Given the description of an element on the screen output the (x, y) to click on. 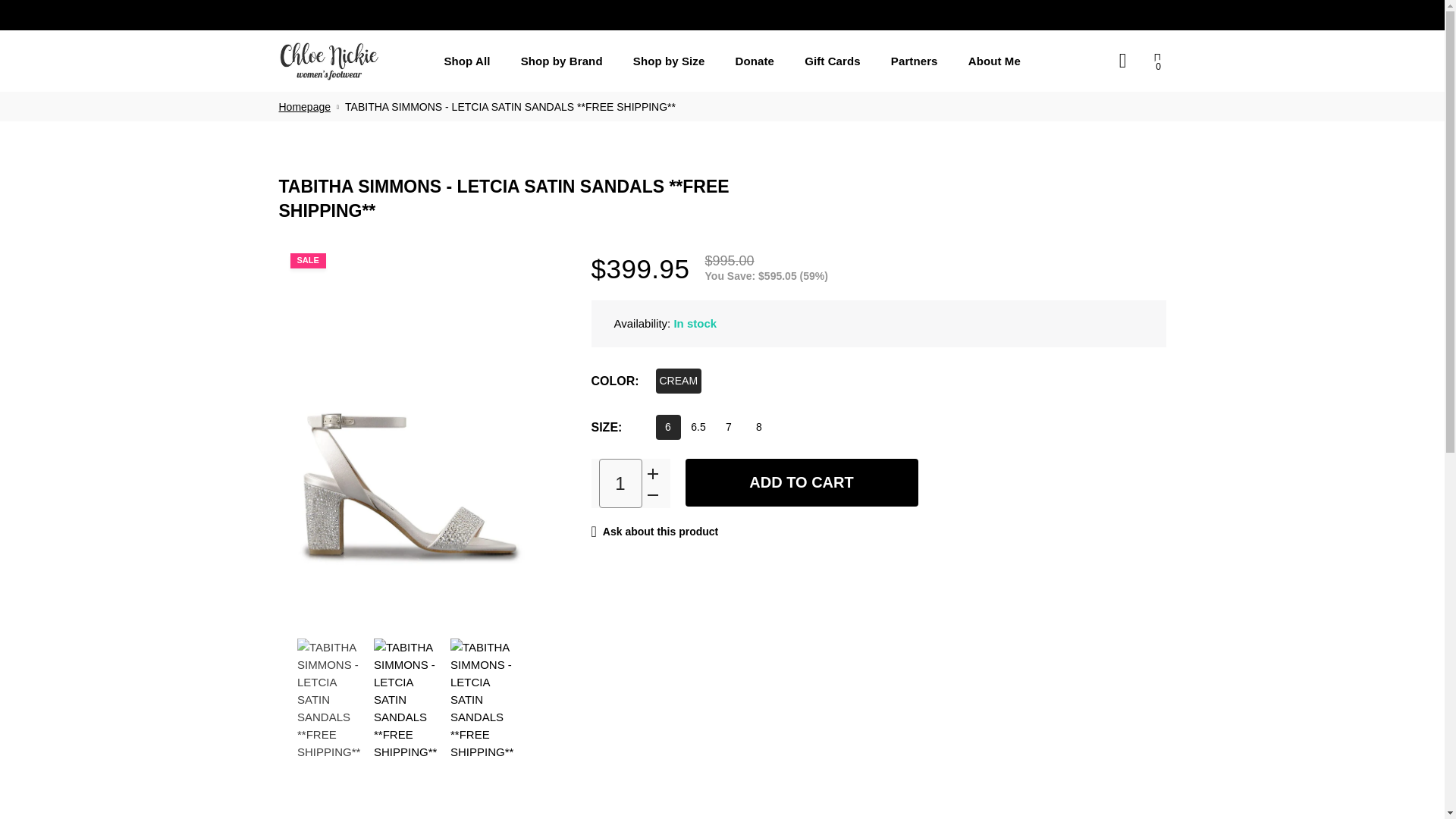
0 (1153, 60)
Homepage (305, 106)
6.5 (697, 426)
Donate (754, 61)
About Me (994, 61)
Search (1122, 60)
Shop by Size (668, 61)
Gift Cards (832, 61)
Shop by Brand (561, 61)
Partners (914, 61)
